Given the description of an element on the screen output the (x, y) to click on. 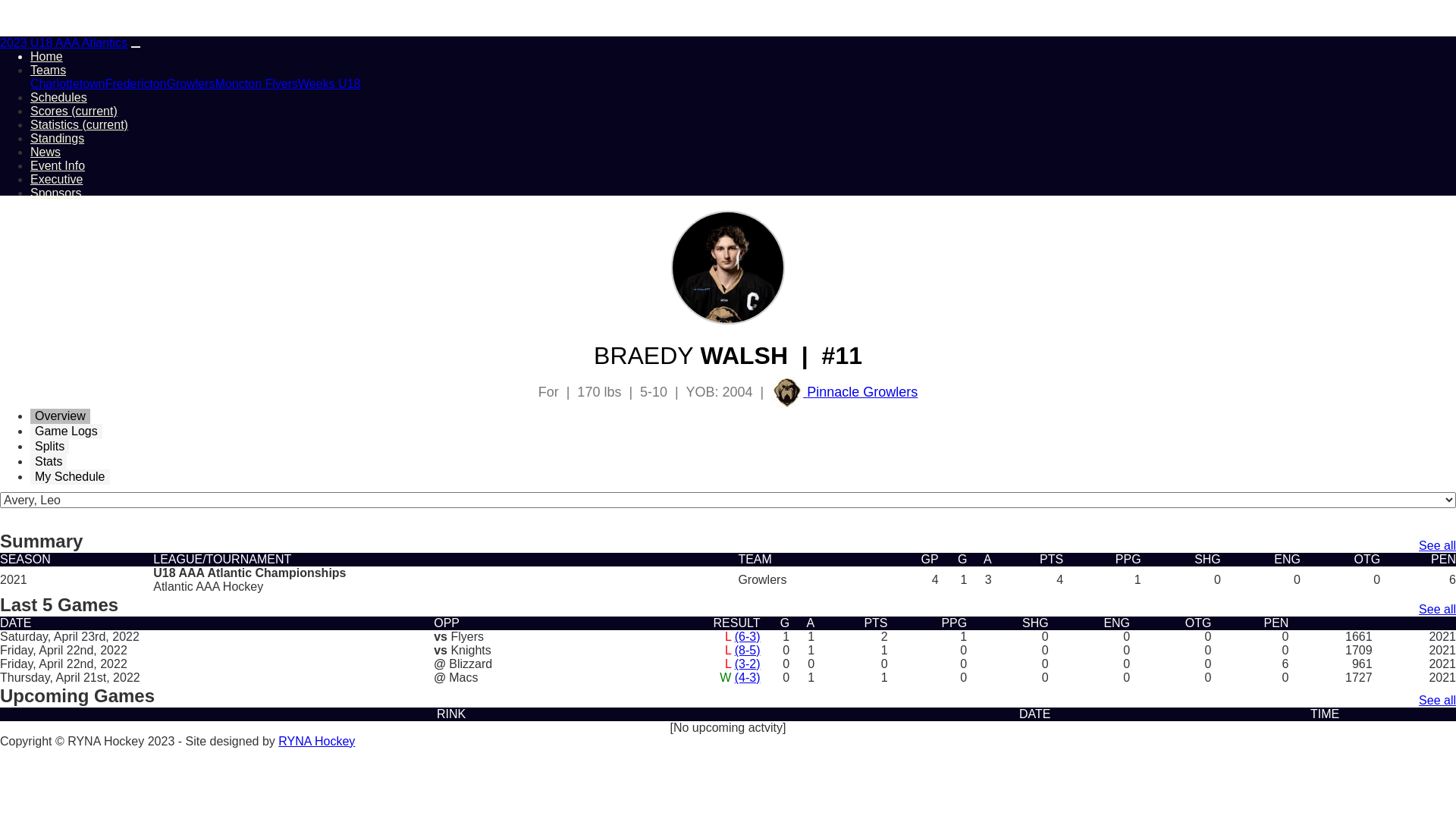
Charlottetown Element type: text (67, 83)
RYNA Hockey Element type: text (316, 740)
Schedules Element type: text (58, 97)
Stats Element type: text (48, 461)
Moncton Flyers Element type: text (256, 83)
Weeks U18 Element type: text (329, 83)
Standings Element type: text (57, 137)
(8-5) Element type: text (747, 649)
Game Logs Element type: text (66, 431)
(6-3) Element type: text (747, 636)
2023 U18 AAA Atlantics Element type: text (63, 42)
Statistics (current) Element type: text (79, 124)
Home Element type: text (46, 56)
Fredericton Element type: text (135, 83)
 Pinnacle Growlers Element type: text (844, 391)
Splits Element type: text (49, 446)
Event Info Element type: text (57, 165)
Overview Element type: text (60, 415)
Sponsors Element type: text (55, 192)
(4-3) Element type: text (747, 677)
Executive Element type: text (56, 178)
Growlers Element type: text (190, 83)
Teams Element type: text (47, 69)
News Element type: text (45, 151)
(3-2) Element type: text (747, 663)
Scores (current) Element type: text (73, 110)
My Schedule Element type: text (69, 476)
